Given the description of an element on the screen output the (x, y) to click on. 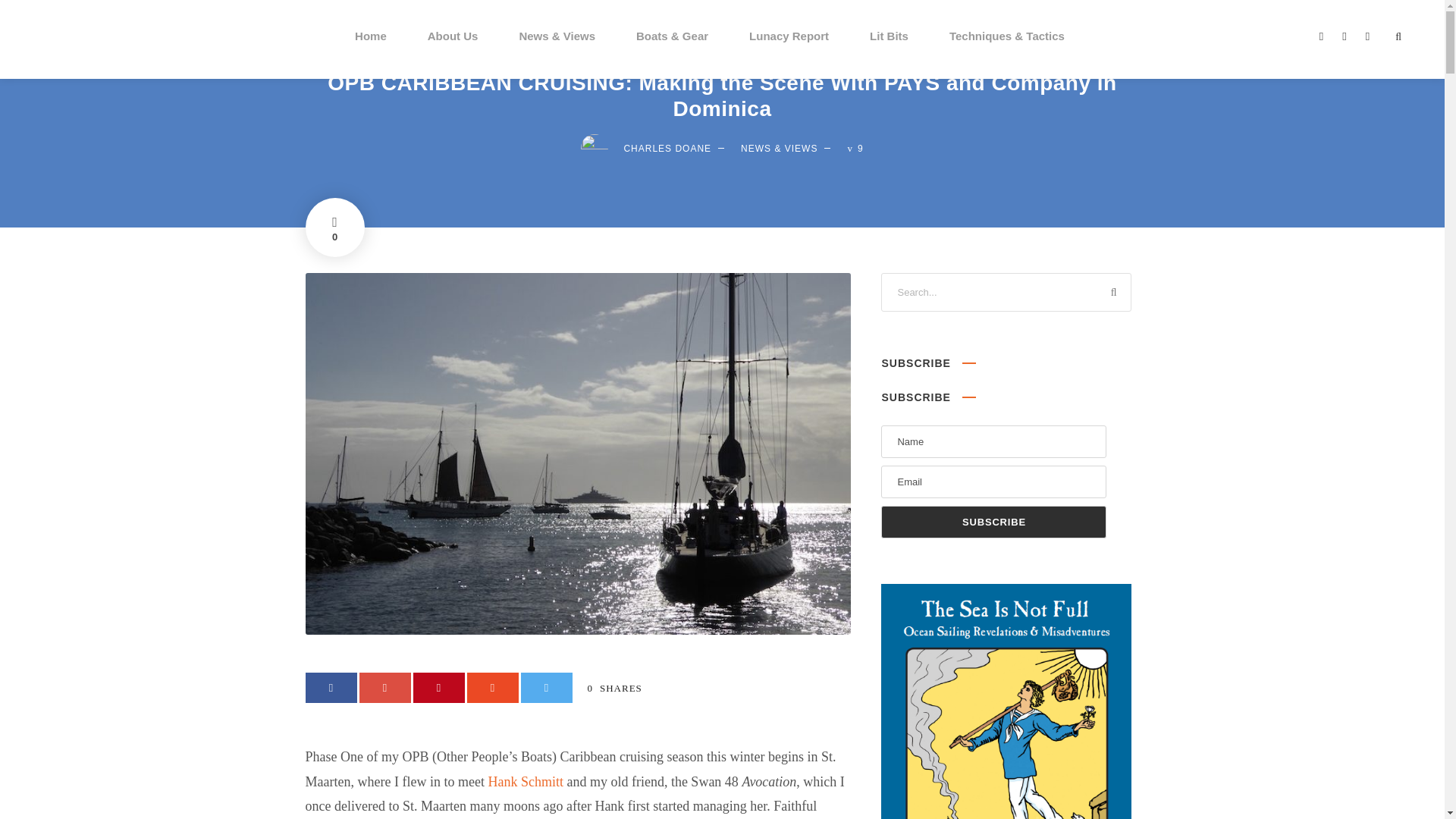
Lunacy Report (788, 52)
Home (371, 52)
WaveTrain link (525, 781)
Subscribe (993, 522)
email (1321, 35)
Posts by Charles Doane (667, 148)
rss (1367, 35)
CHARLES DOANE (667, 148)
Hank Schmitt (525, 781)
facebook (1343, 35)
About Us (453, 52)
Lit Bits (888, 52)
logo5 (46, 41)
0 (334, 227)
